Given the description of an element on the screen output the (x, y) to click on. 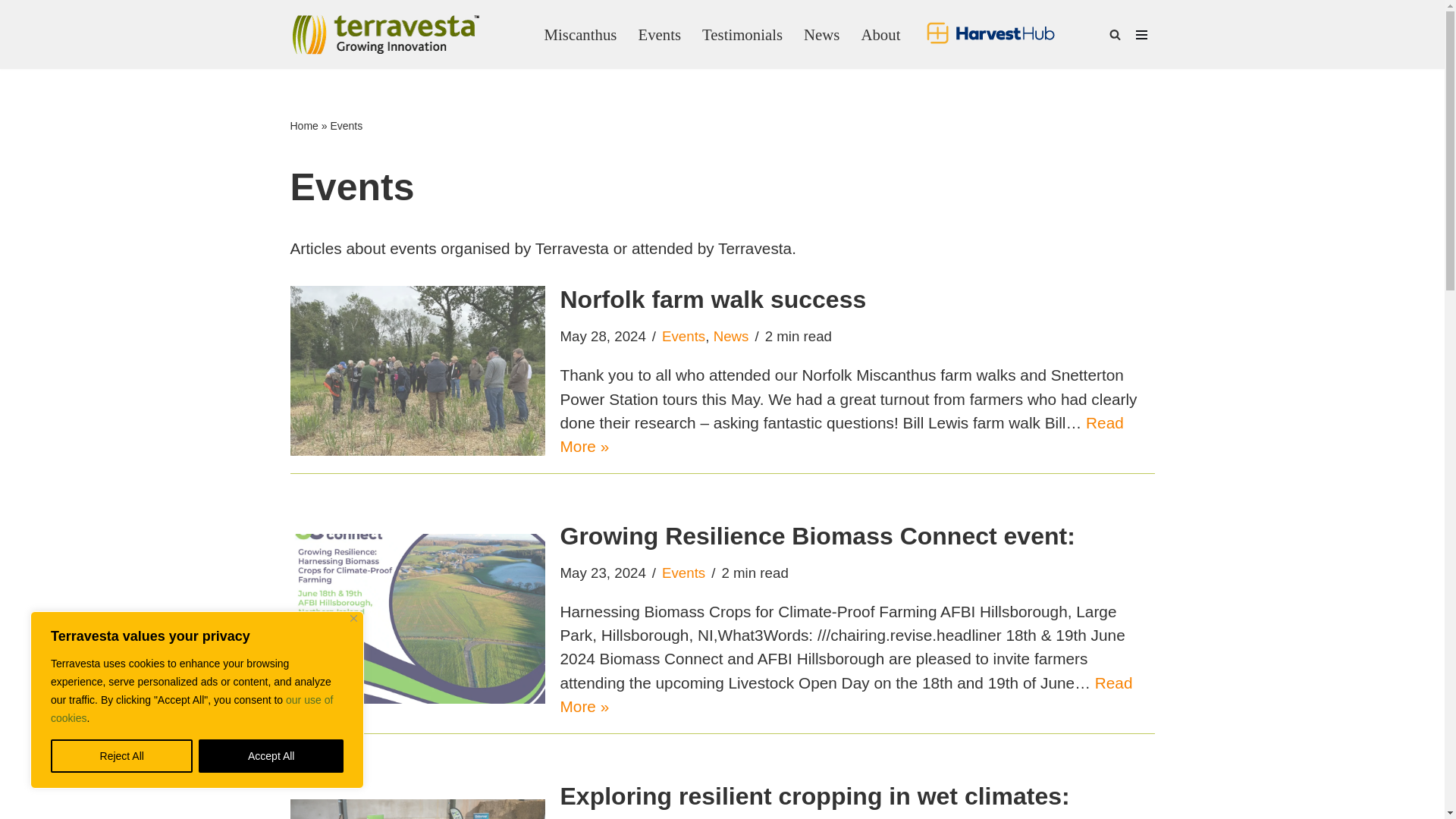
our use of cookies (191, 708)
News (821, 33)
Navigation Menu (1141, 34)
Events (659, 33)
Accept All (270, 756)
Miscanthus (580, 33)
About (879, 33)
Skip to content (11, 31)
Testimonials (742, 33)
Norfolk farm walk success (416, 370)
Reject All (121, 756)
